Given the description of an element on the screen output the (x, y) to click on. 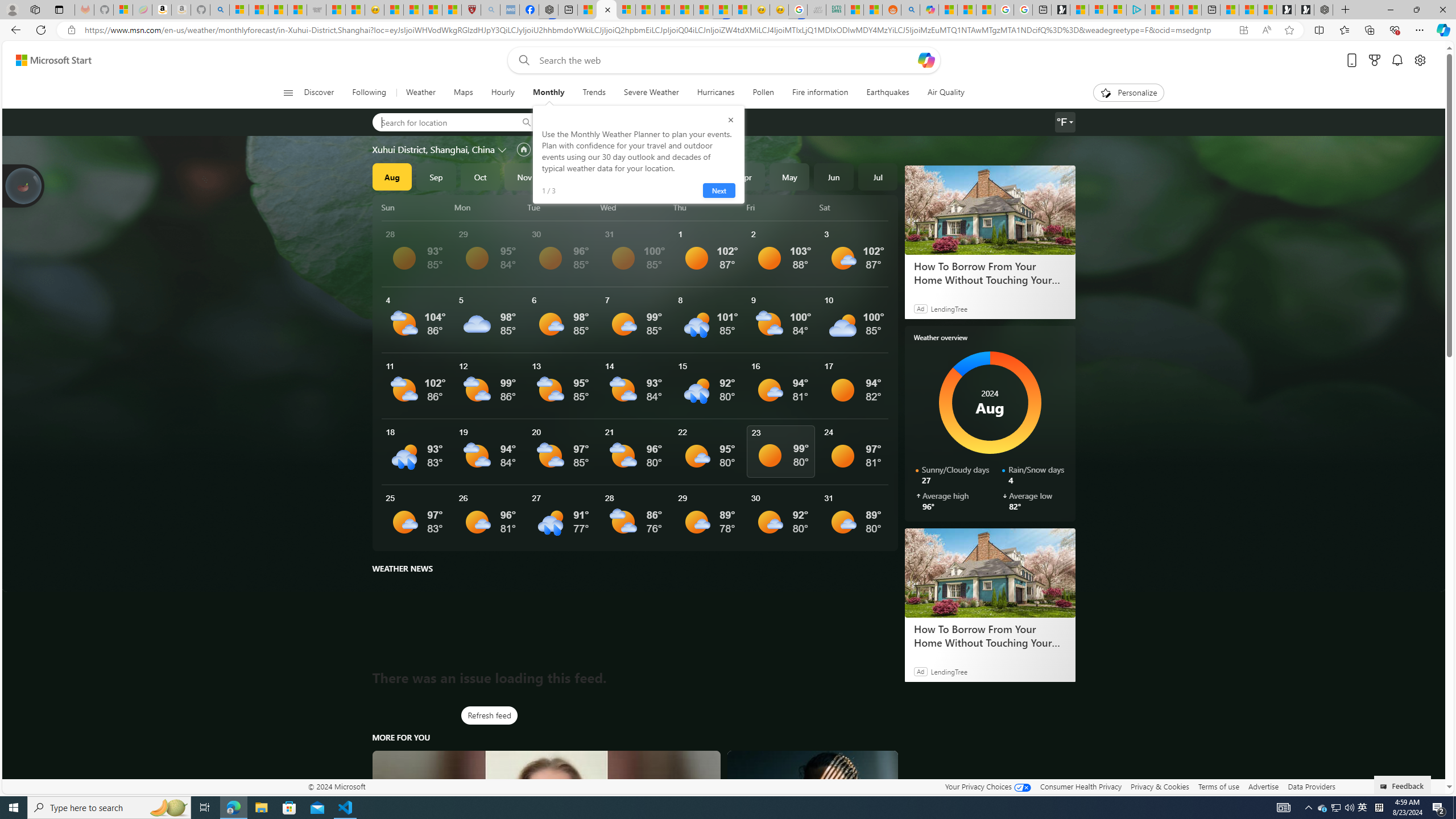
Open settings (1420, 60)
Maps (462, 92)
Sat (853, 207)
Feb (657, 176)
These 3 Stocks Pay You More Than 5% to Own Them (1192, 9)
Refresh feed (488, 714)
Mar (700, 176)
